Given the description of an element on the screen output the (x, y) to click on. 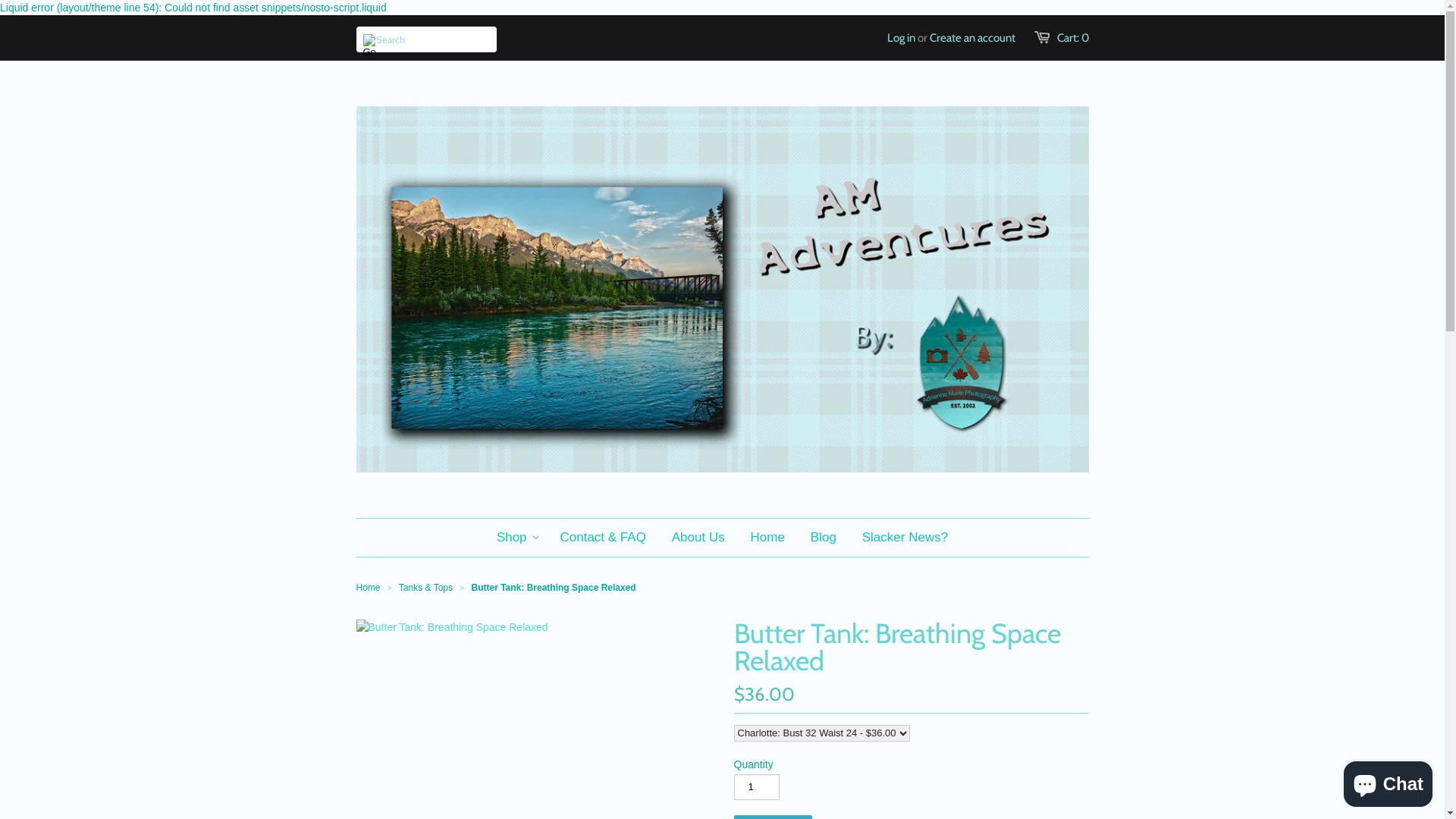
Create an account Element type: text (972, 37)
Blog Element type: text (823, 537)
Cart: 0 Element type: text (1072, 37)
Slacker News? Element type: text (904, 537)
Contact & FAQ Element type: text (602, 537)
About Us Element type: text (698, 537)
Tanks & Tops Element type: text (425, 587)
Home Element type: text (368, 587)
Shopify online store chat Element type: hover (1388, 780)
Home Element type: text (767, 537)
Log in Element type: text (901, 37)
Shop Element type: text (511, 537)
